Given the description of an element on the screen output the (x, y) to click on. 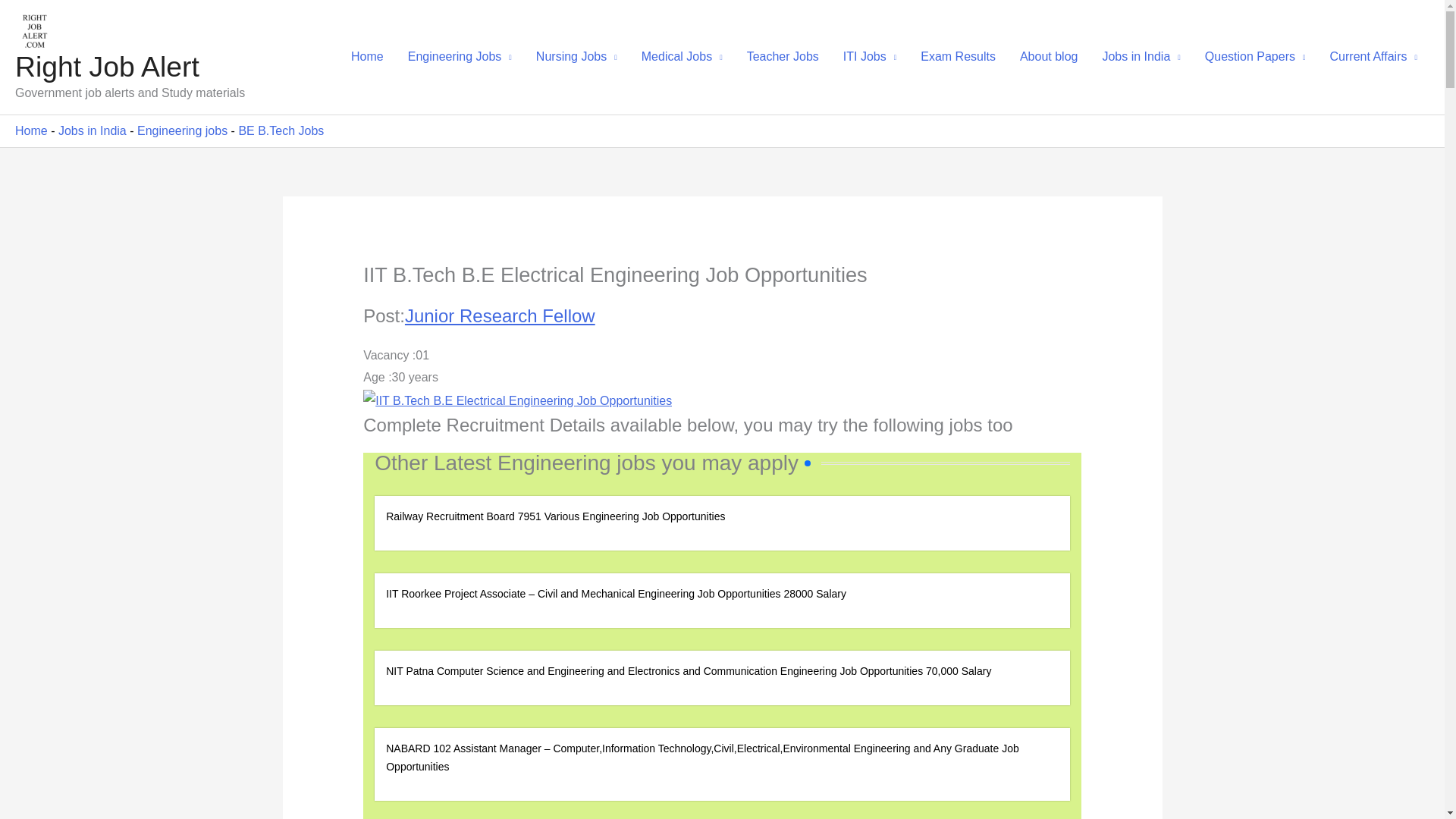
ITI Jobs (869, 56)
Medical Jobs (681, 56)
Engineering Jobs (460, 56)
Right Job Alert (106, 66)
Teacher Jobs (783, 56)
Home (367, 56)
Nursing Jobs (576, 56)
IIT B.Tech B.E Electrical Engineering Job Opportunities 1 (516, 400)
